Given the description of an element on the screen output the (x, y) to click on. 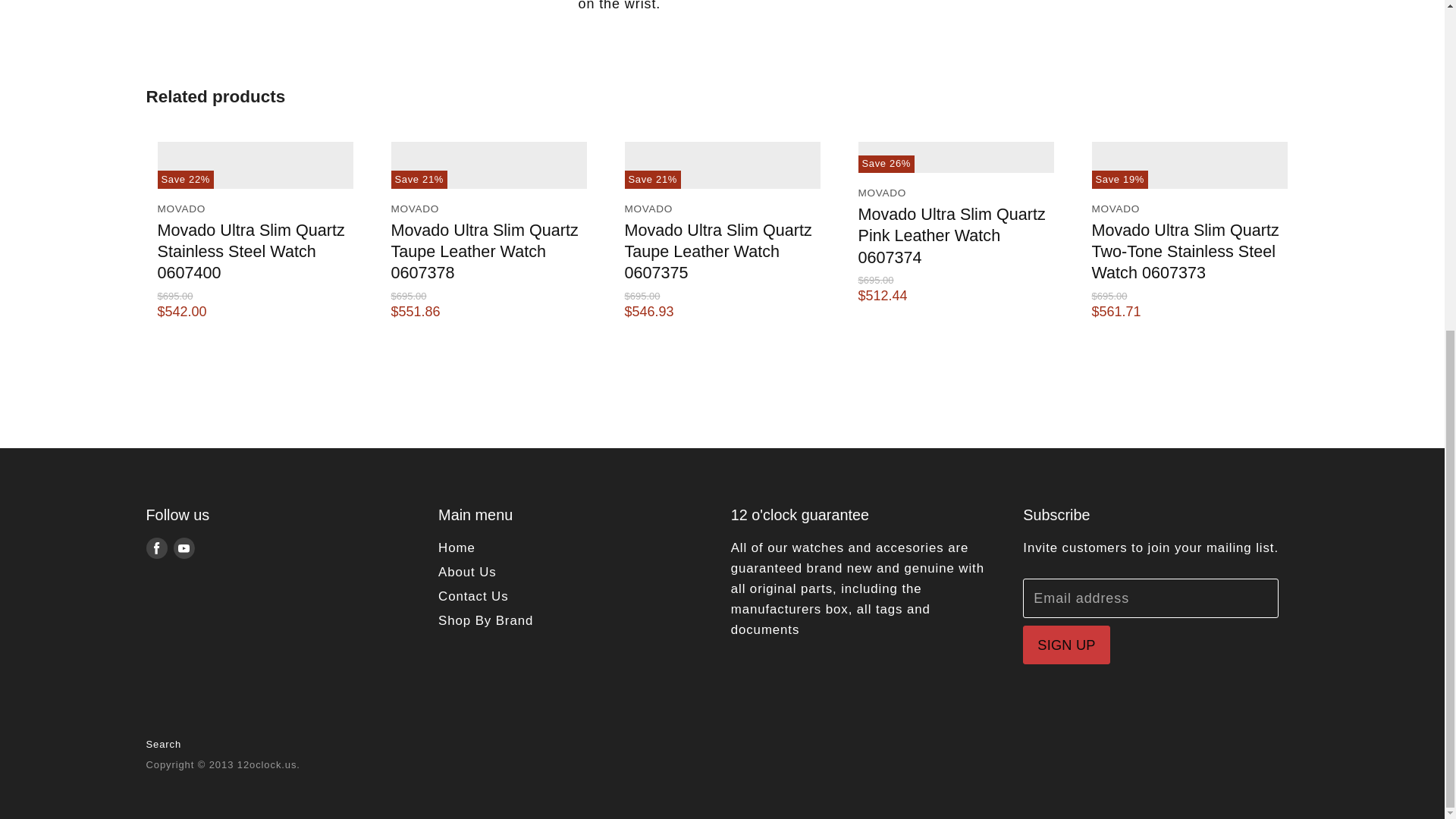
Facebook (156, 547)
Movado Ultra Slim Quartz Stainless Steel Watch 0607400 (251, 251)
Youtube (183, 547)
